Given the description of an element on the screen output the (x, y) to click on. 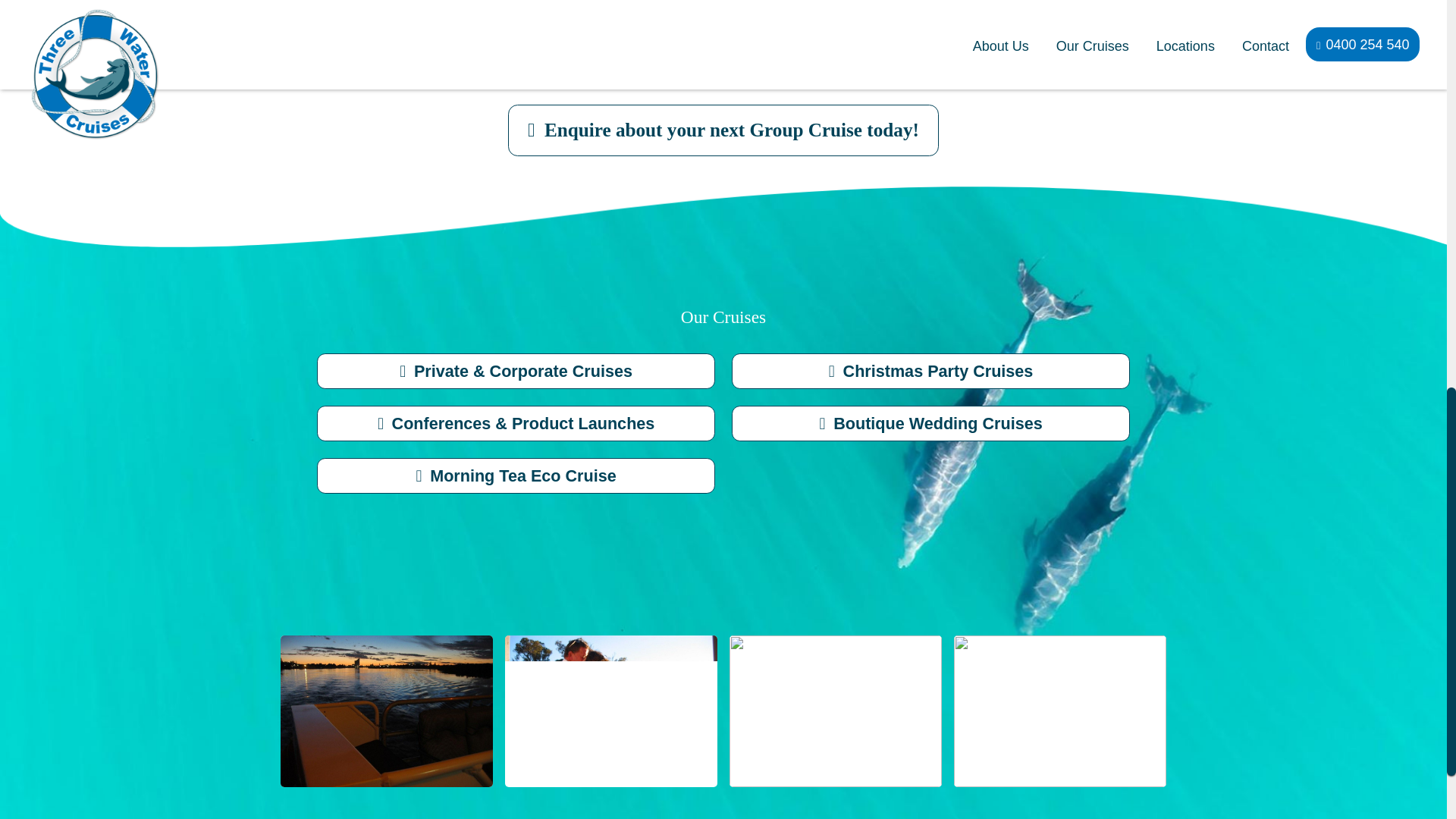
Christmas Party Cruises (930, 370)
Boutique Wedding Cruises (930, 423)
Morning Tea Eco Cruise (515, 475)
Enquire about your next Group Cruise today! (723, 130)
